Given the description of an element on the screen output the (x, y) to click on. 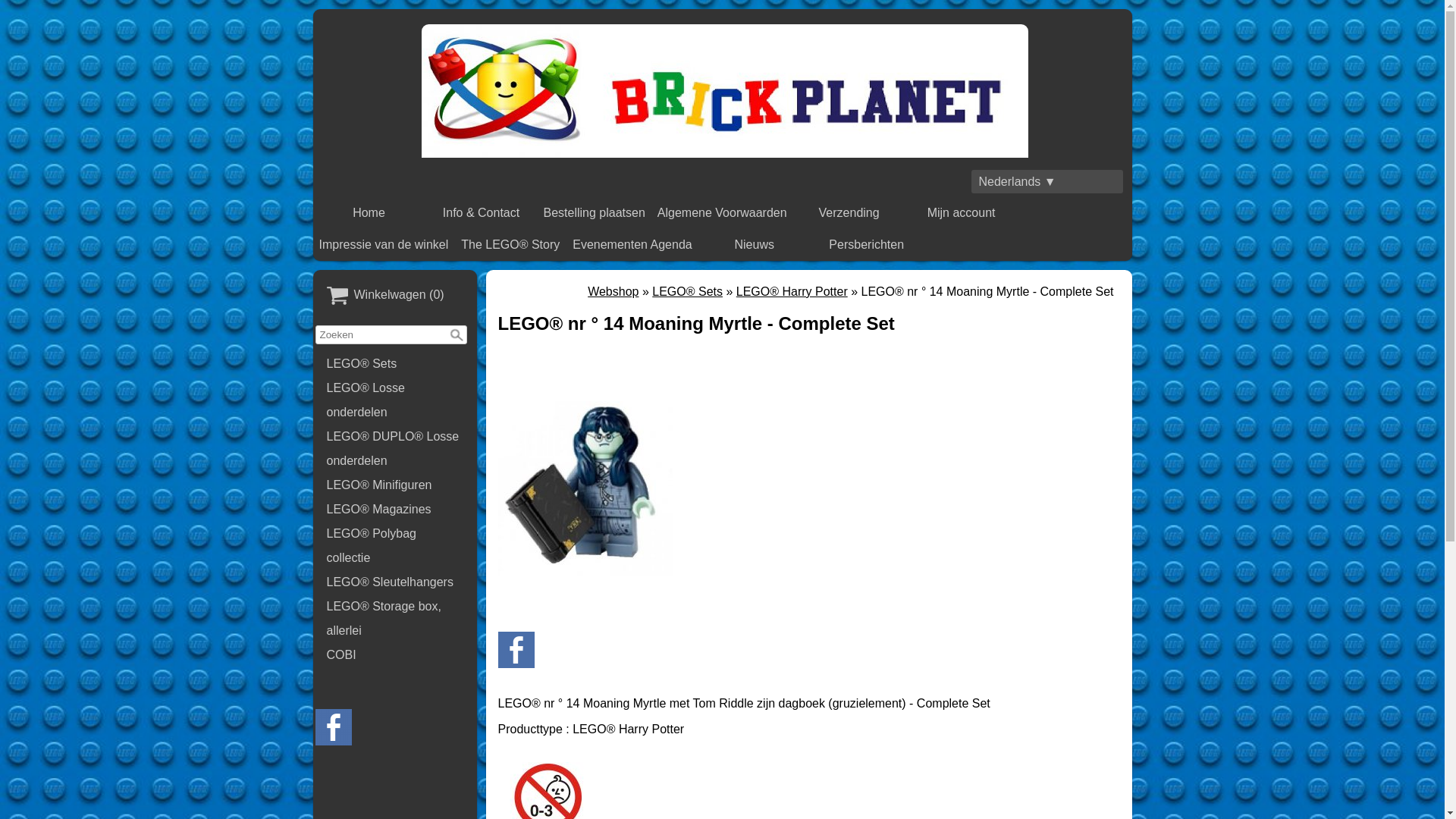
WinkelwagenWinkelwagen (0) Element type: text (394, 295)
Webshop Element type: text (612, 291)
Evenementen Agenda Element type: text (631, 244)
Mijn account Element type: text (961, 212)
Persberichten Element type: text (866, 244)
Algemene Voorwaarden Element type: text (722, 212)
Nieuws Element type: text (754, 244)
Bestelling plaatsen Element type: text (594, 212)
Verzending Element type: text (849, 212)
Impressie van de winkel Element type: text (383, 244)
Info & Contact Element type: text (481, 212)
Home Element type: text (368, 212)
COBI Element type: text (394, 655)
